Given the description of an element on the screen output the (x, y) to click on. 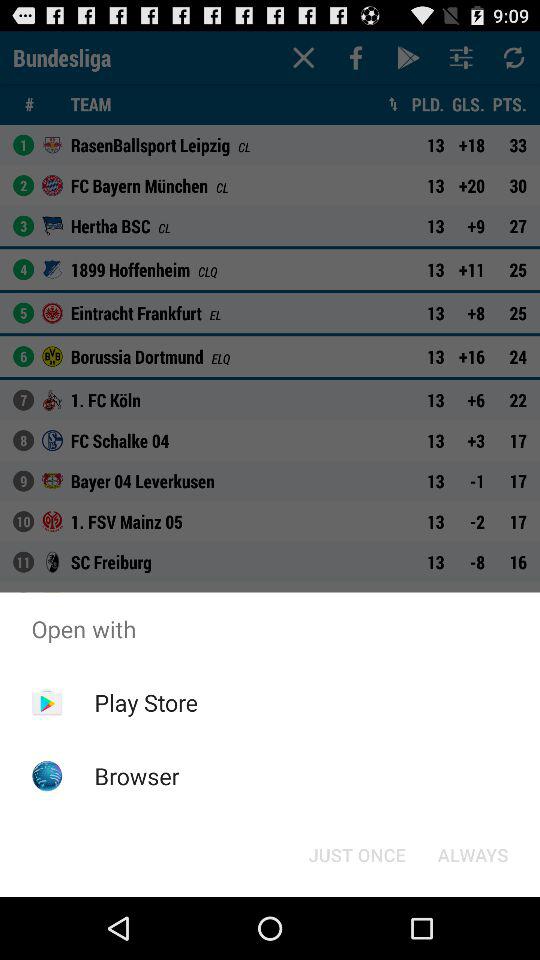
open the item below open with app (146, 702)
